Given the description of an element on the screen output the (x, y) to click on. 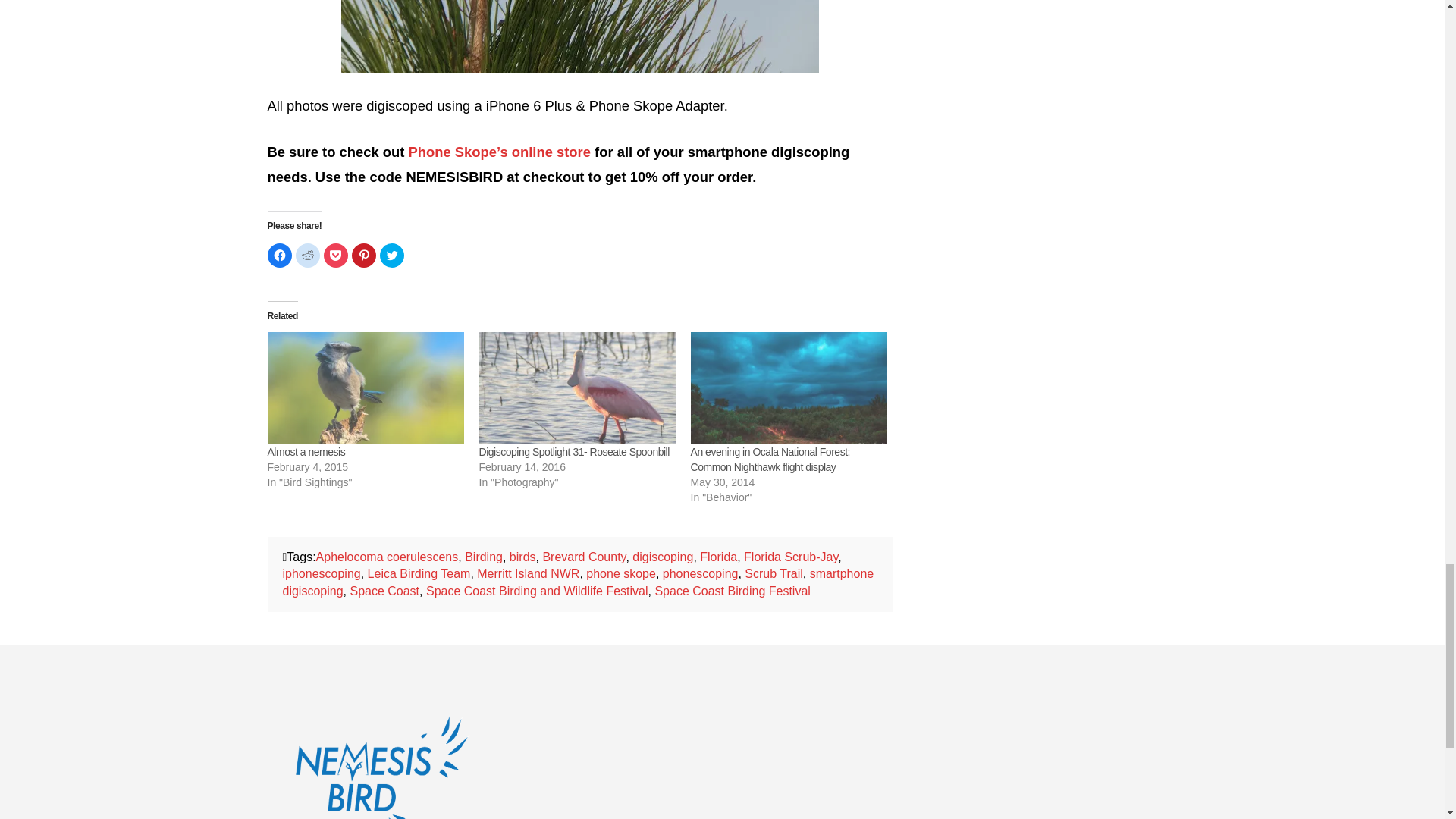
Click to share on Facebook (278, 255)
Almost a nemesis (364, 388)
Click to share on Pinterest (363, 255)
Almost a nemesis (305, 451)
Digiscoping Spotlight 31- Roseate Spoonbill (574, 451)
Digiscoping Spotlight 31- Roseate Spoonbill (577, 388)
Click to share on Reddit (307, 255)
Click to share on Pocket (335, 255)
Click to share on Twitter (390, 255)
